Given the description of an element on the screen output the (x, y) to click on. 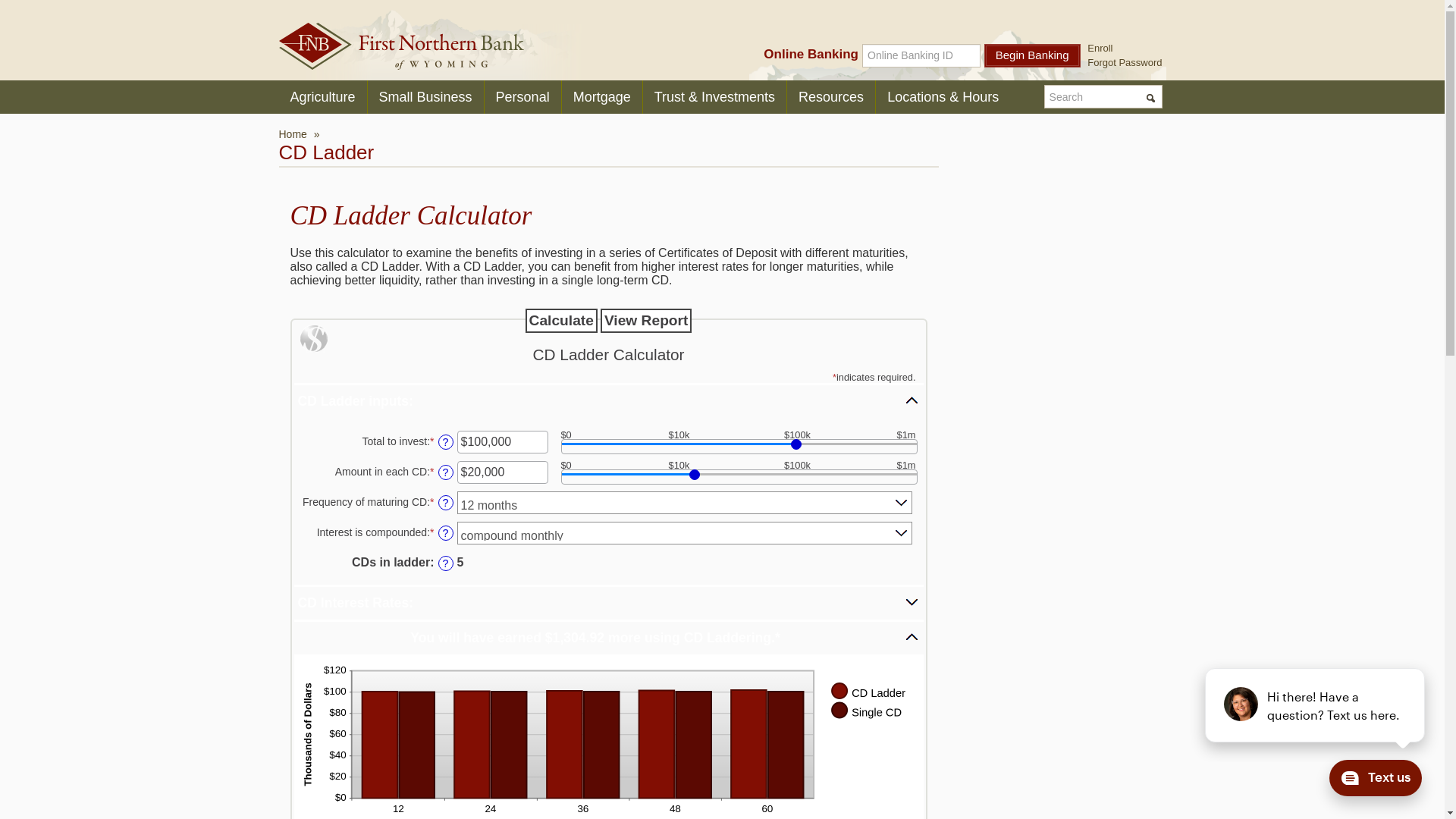
? Element type: text (445, 502)
? Element type: text (445, 472)
Amount in each CD slider Element type: hover (739, 476)
Begin Banking Element type: text (1032, 55)
Total to invest slider Element type: hover (739, 446)
podium webchat widget prompt Element type: hover (1315, 705)
Search icon Element type: text (1152, 100)
Forgot Password Element type: text (1124, 62)
First Northern Bank of Wyoming Element type: text (401, 45)
? Element type: text (445, 441)
? Element type: text (445, 532)
Skip Navigation Element type: text (36, 6)
? Element type: text (445, 563)
Locations & Hours Element type: text (942, 96)
Enroll Element type: text (1099, 47)
